Given the description of an element on the screen output the (x, y) to click on. 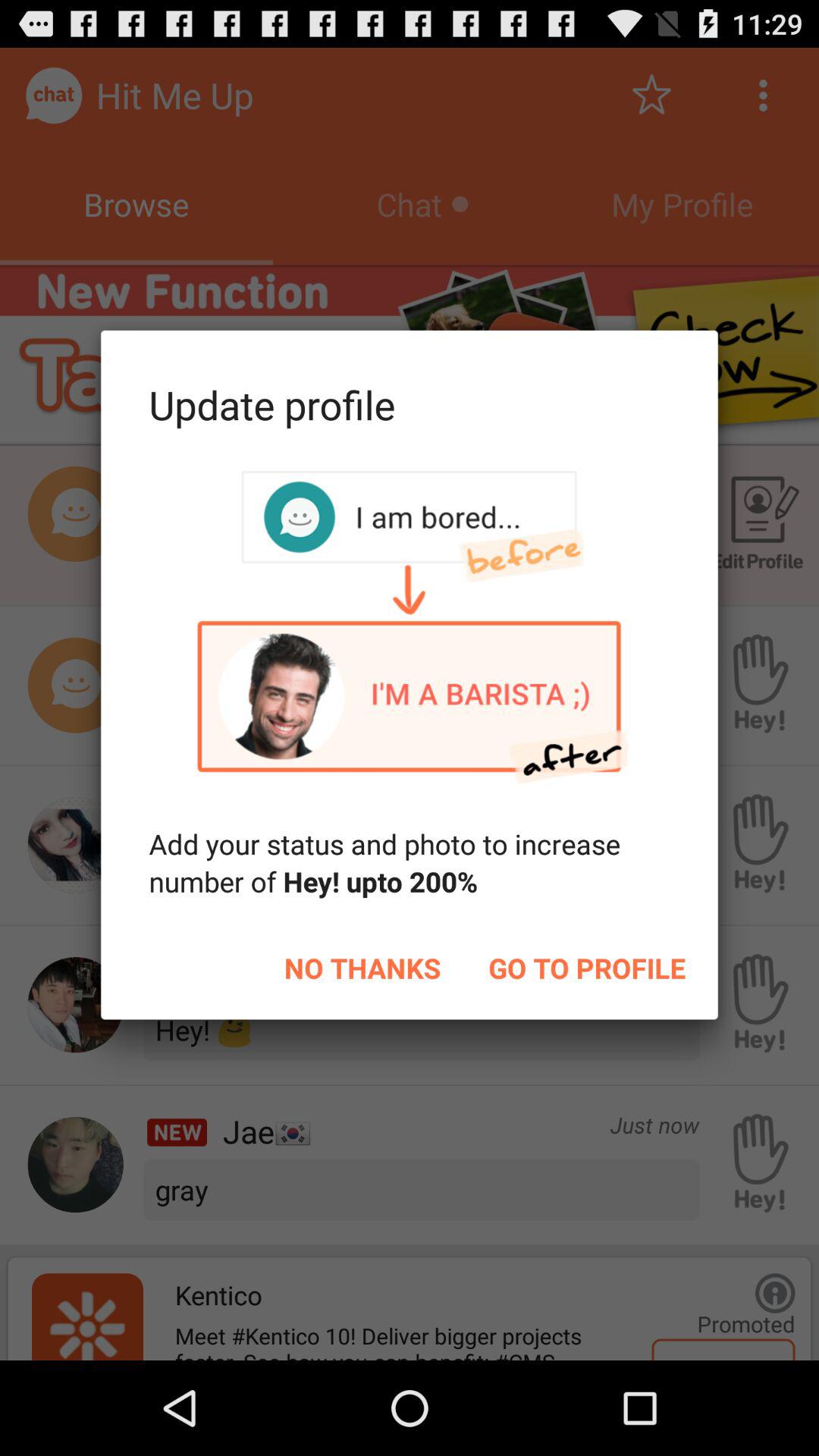
open the app below number of (362, 967)
